Given the description of an element on the screen output the (x, y) to click on. 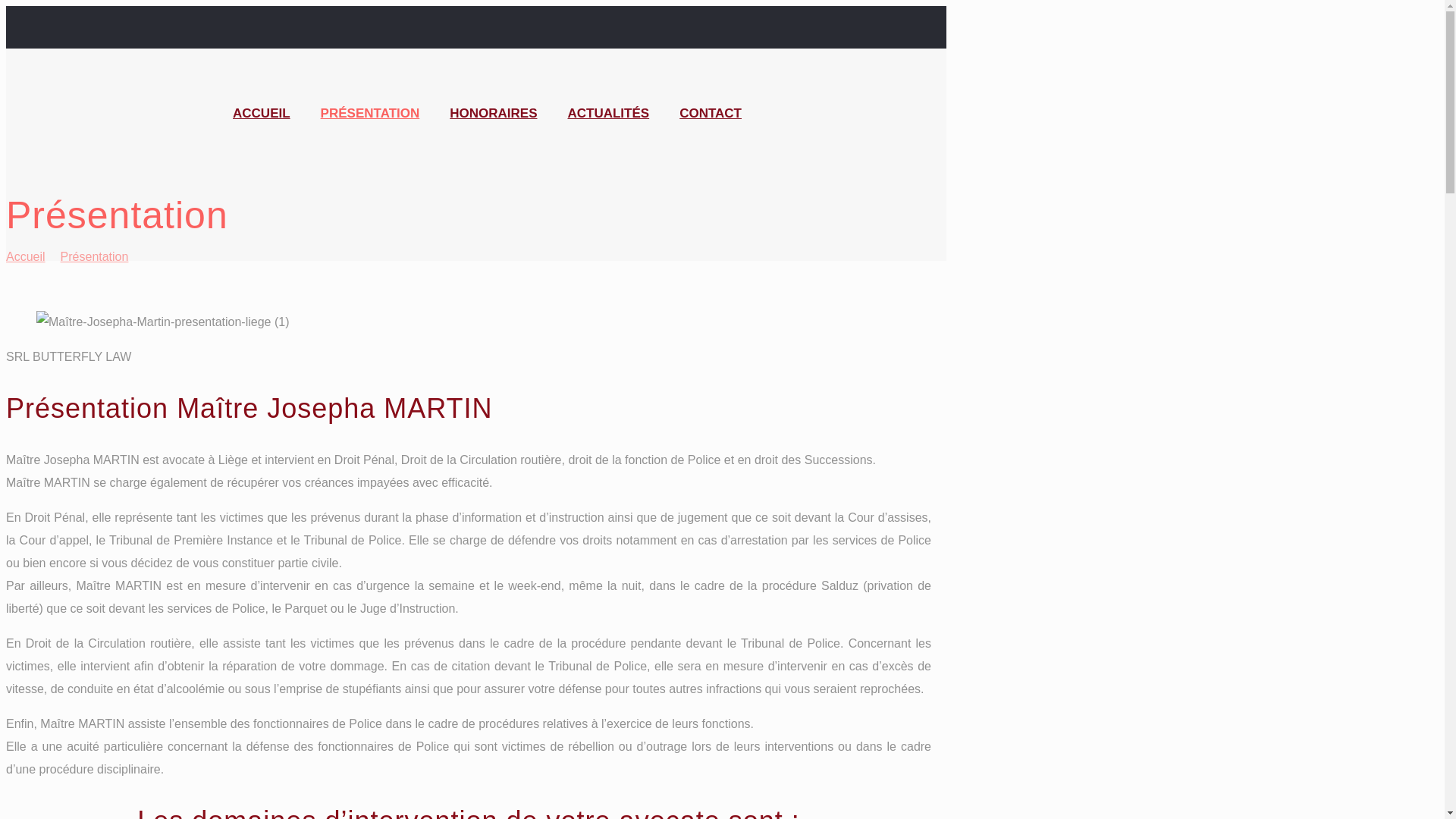
ACCUEIL Element type: text (261, 113)
CONTACT Element type: text (710, 113)
HONORAIRES Element type: text (493, 113)
Accueil Element type: text (25, 256)
